Given the description of an element on the screen output the (x, y) to click on. 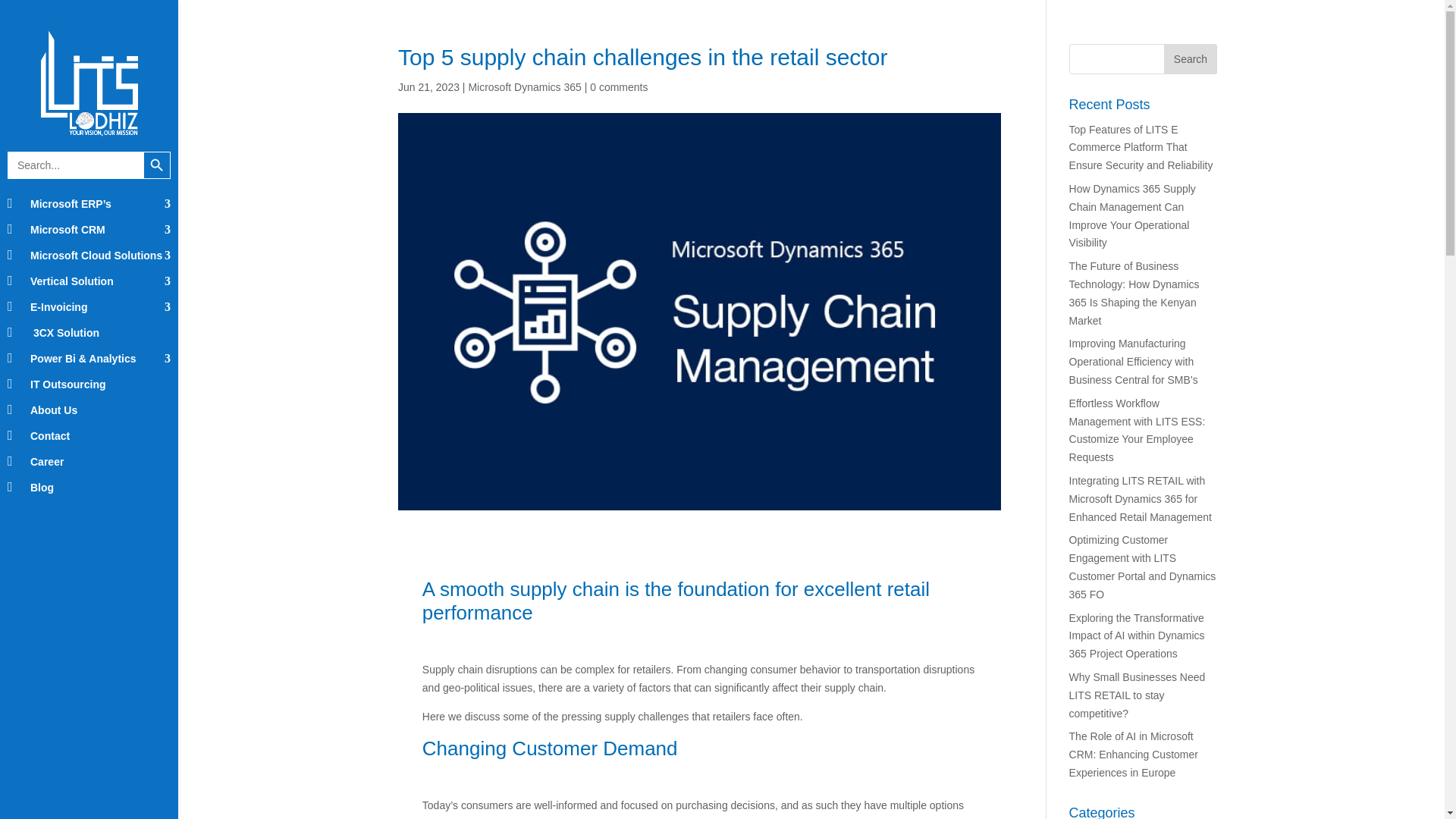
Microsoft Cloud Solutions (88, 254)
Search Button (156, 165)
Microsoft CRM (88, 228)
Search (1190, 59)
Vertical Solution (88, 280)
